Given the description of an element on the screen output the (x, y) to click on. 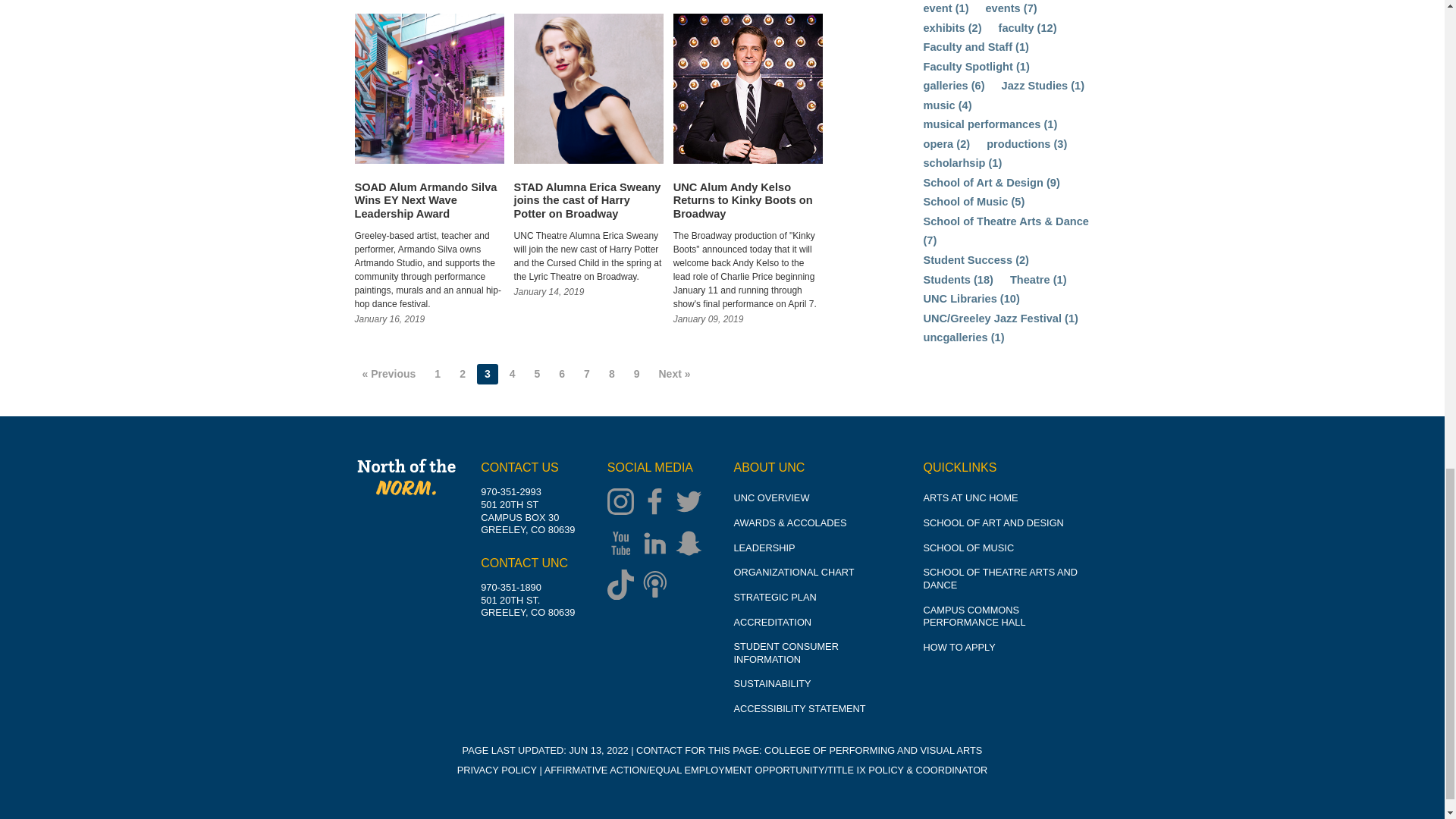
unc-school-of-art-and-design (992, 522)
Snapchat (692, 544)
Twitter (692, 503)
unc-school-of-theatre-arts-and-dance (1000, 578)
TikTok (624, 586)
LinkedIn (658, 544)
unc-school-of-music (968, 547)
YouTube (624, 544)
Instagram (624, 503)
Facebook (658, 503)
Bear in Mind Podcast (658, 586)
Arts at UNC Home (970, 497)
